Given the description of an element on the screen output the (x, y) to click on. 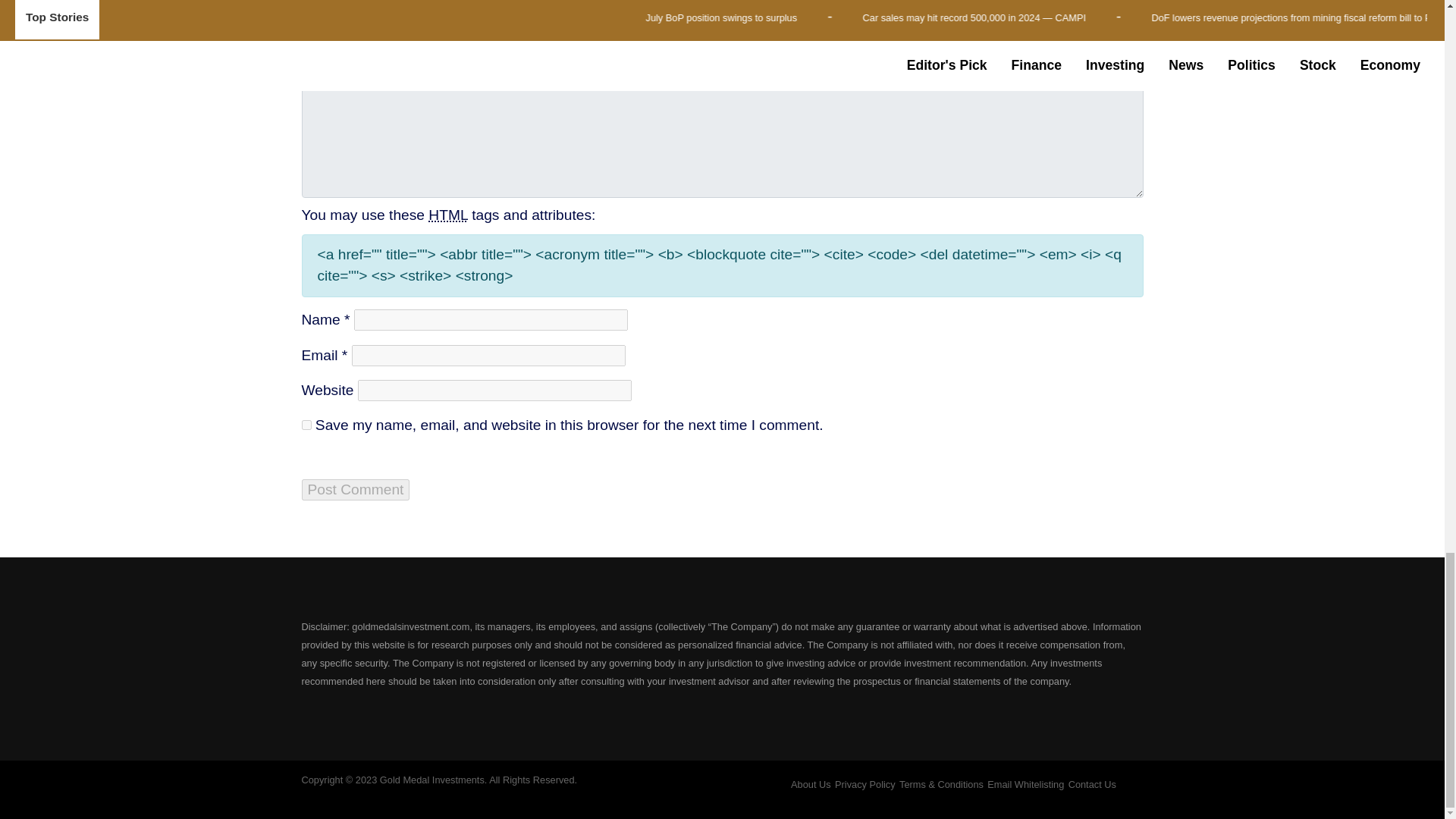
Post Comment (355, 489)
About Us (810, 784)
Post Comment (355, 489)
Privacy Policy (864, 784)
yes (306, 424)
HyperText Markup Language (447, 214)
Email Whitelisting (1025, 784)
Contact Us (1092, 784)
